Given the description of an element on the screen output the (x, y) to click on. 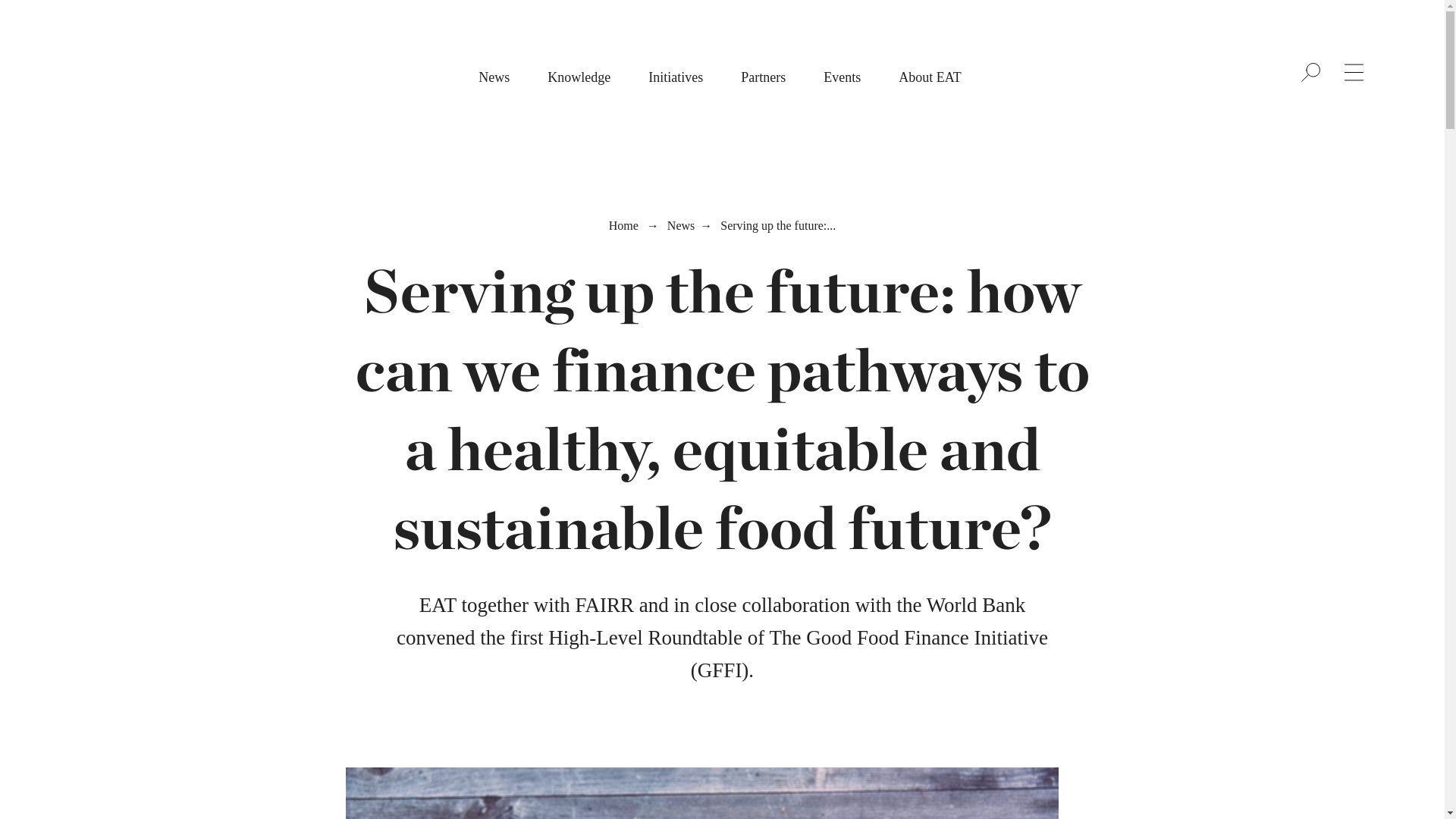
Home (623, 225)
Partners (763, 77)
About EAT (929, 77)
Initiatives (675, 77)
Knowledge (578, 77)
Events (842, 77)
menu-close (18, 18)
News (494, 77)
News (680, 225)
